Given the description of an element on the screen output the (x, y) to click on. 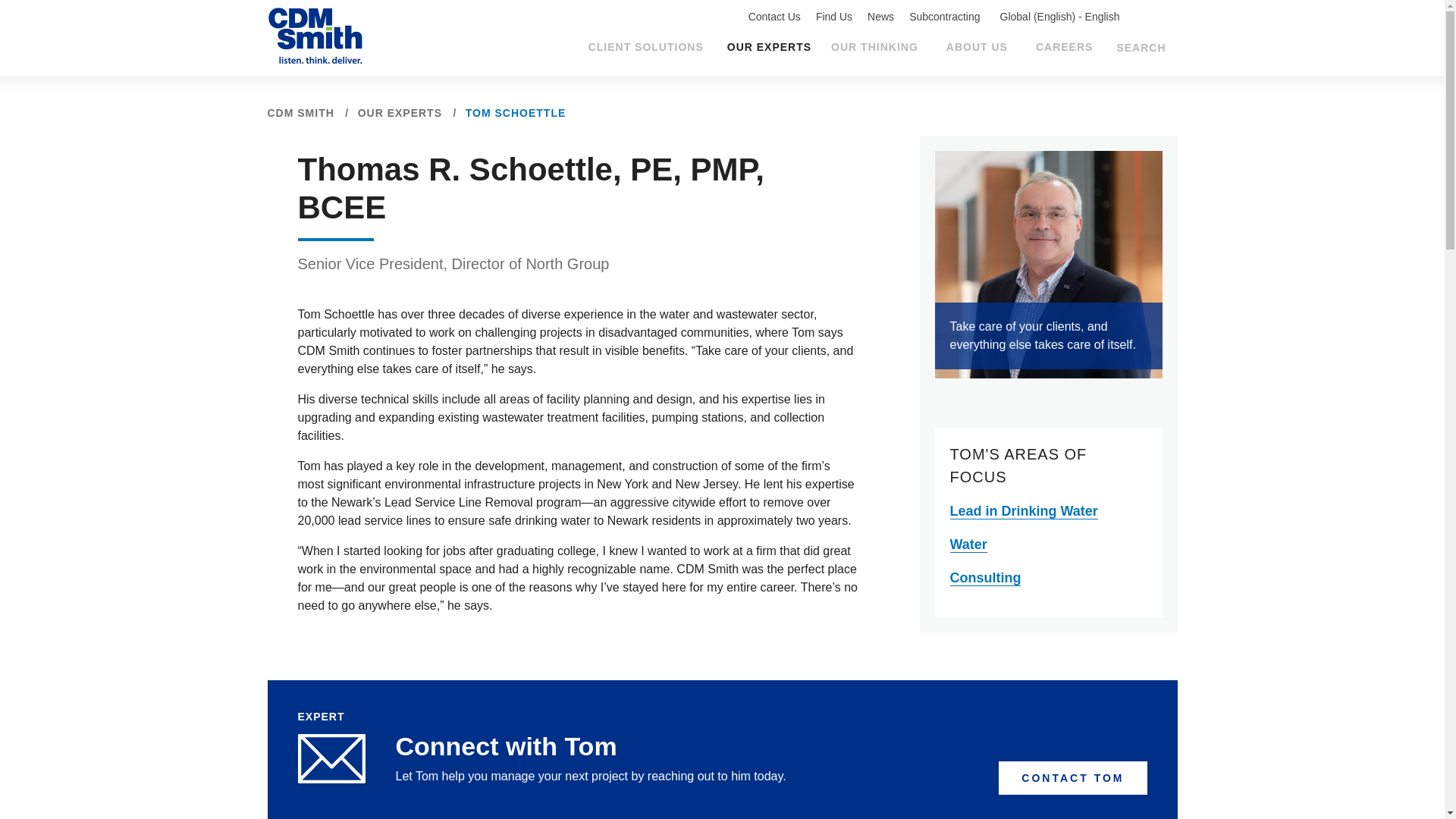
OUR THINKING (876, 46)
ABOUT US (979, 46)
Toggle high contrast mode (1153, 20)
CLIENT SOLUTIONS (647, 46)
CAREERS (1065, 46)
OUR EXPERTS (768, 46)
